Given the description of an element on the screen output the (x, y) to click on. 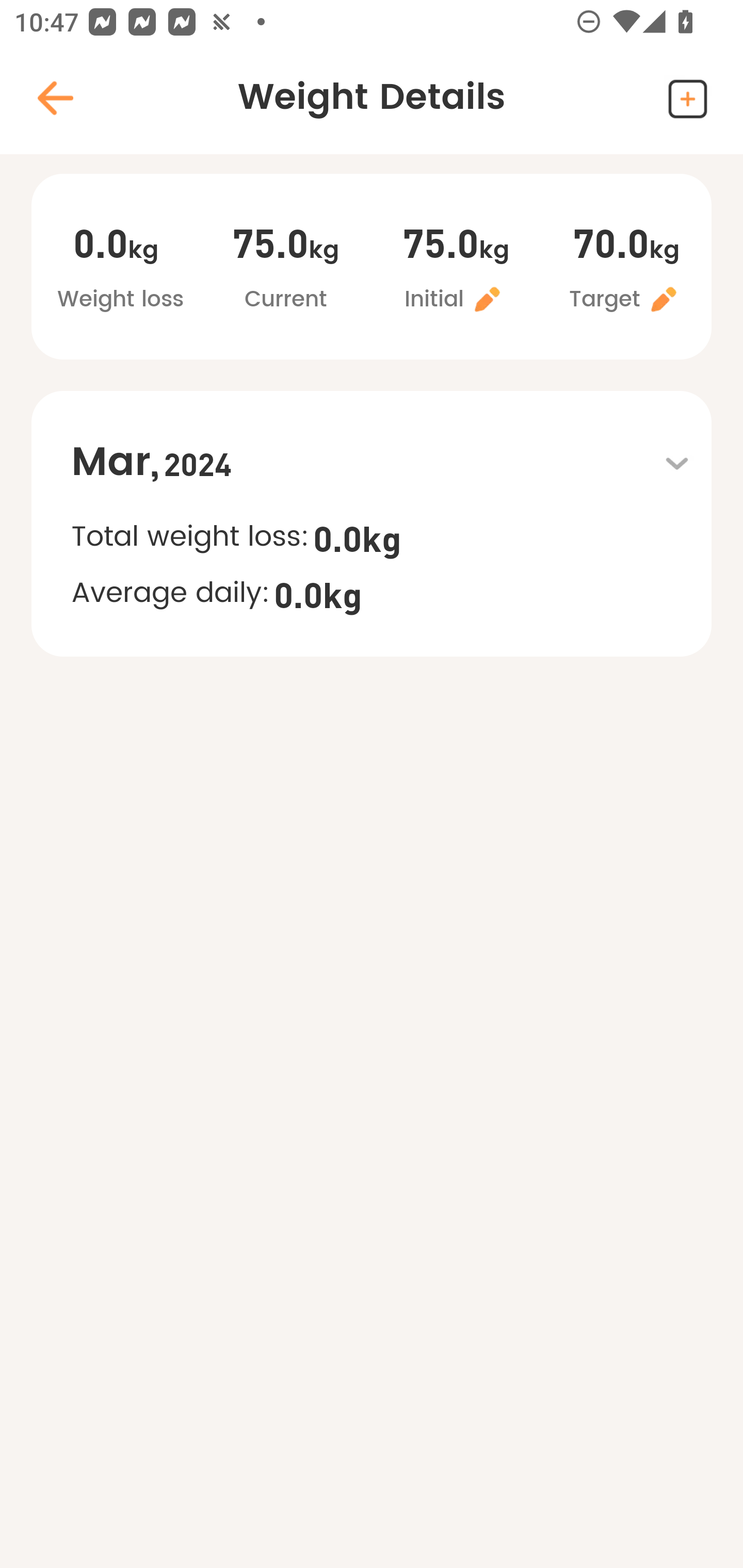
75.0kg Initial (455, 268)
70.0kg Target (625, 268)
